Given the description of an element on the screen output the (x, y) to click on. 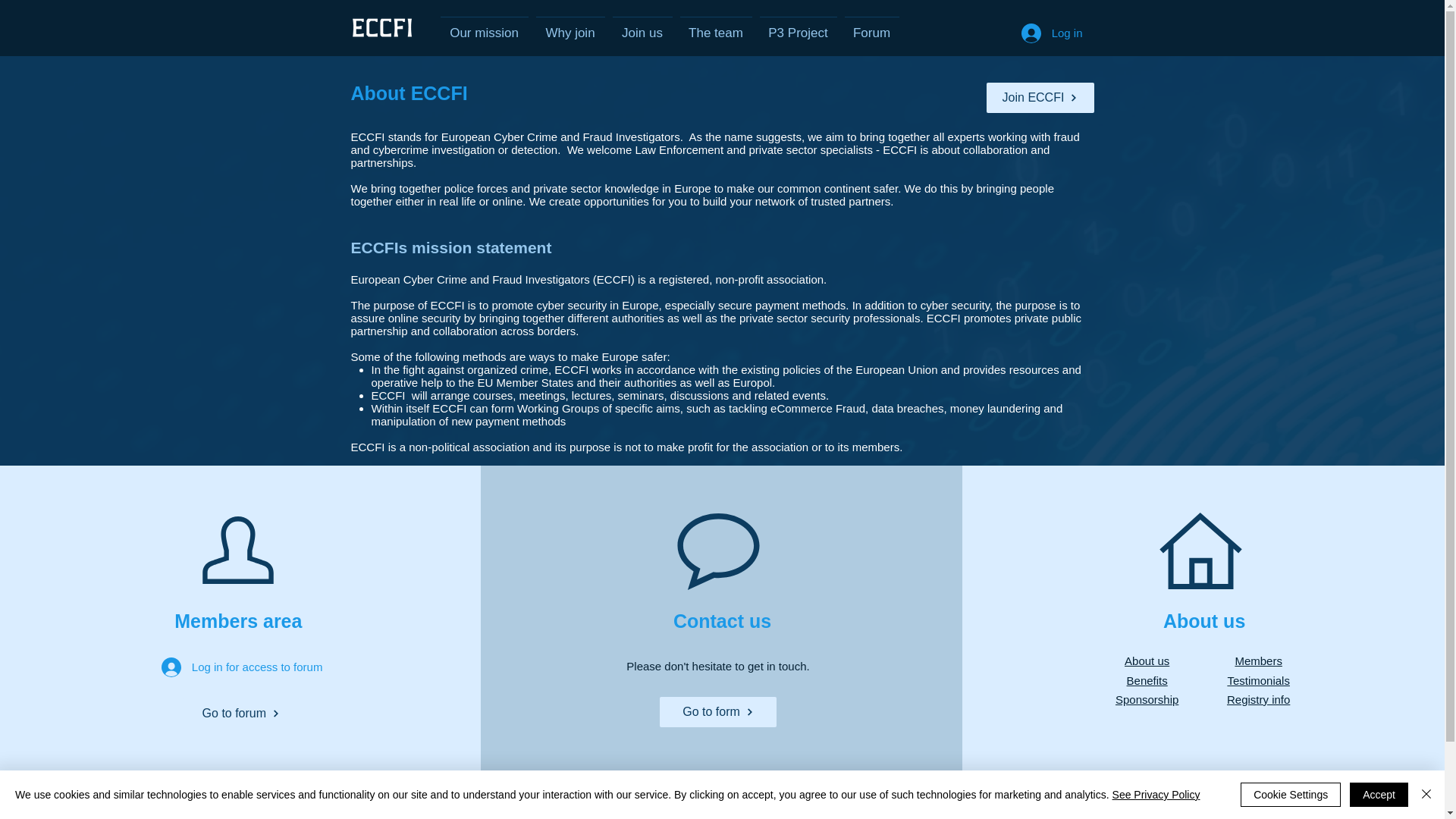
Why join (570, 26)
Accept (1378, 794)
Benefits (1146, 679)
About us (1146, 660)
P3 Project (797, 26)
Log in for access to forum (241, 665)
Registry info (1258, 698)
The team (716, 26)
Members (1258, 660)
Go to form (717, 711)
